Given the description of an element on the screen output the (x, y) to click on. 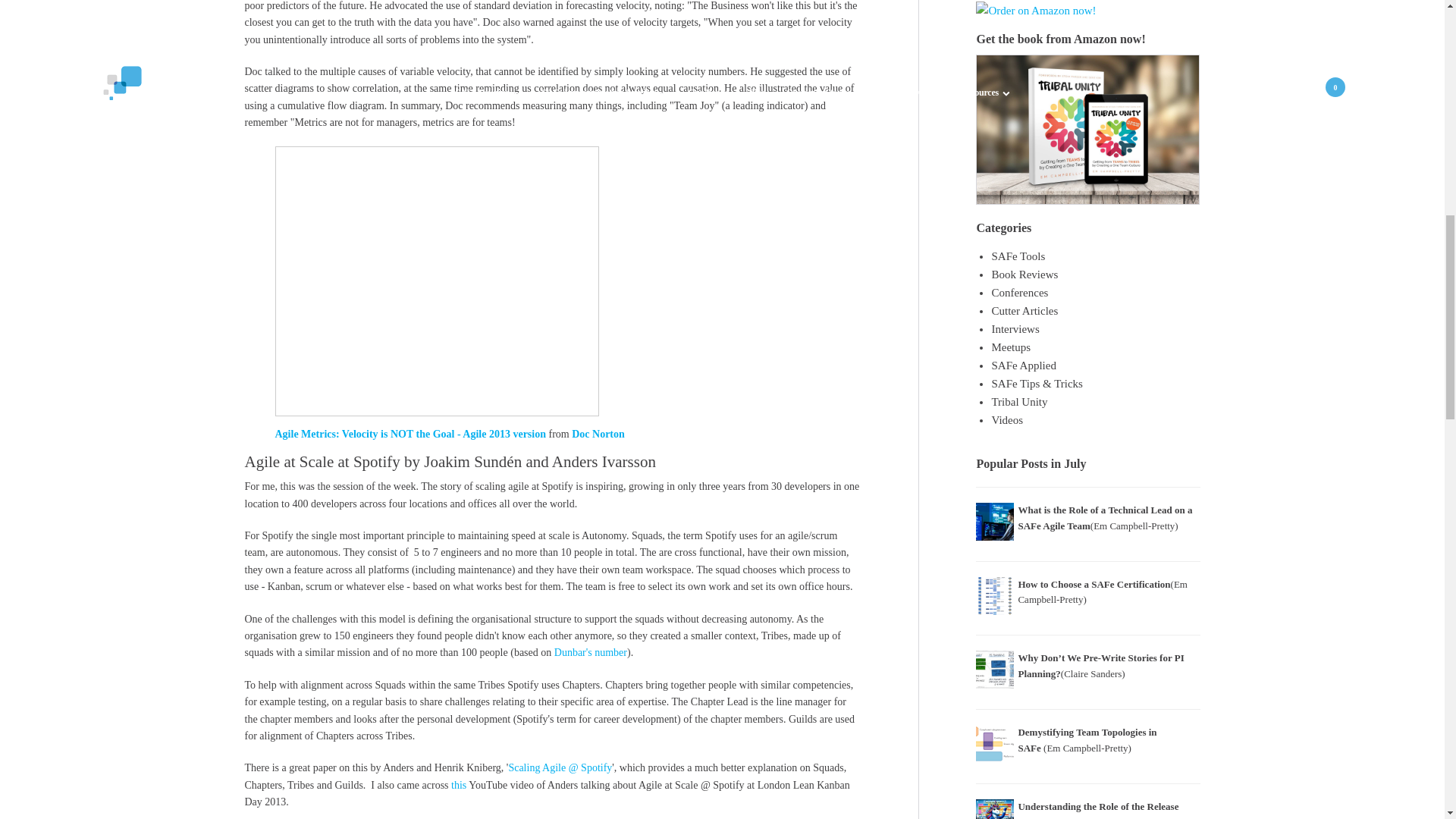
Agile Metrics: Velocity is NOT the Goal - Agile 2013 version (436, 281)
Agile Metrics: Velocity is NOT the Goal - Agile 2013 version (409, 433)
